Given the description of an element on the screen output the (x, y) to click on. 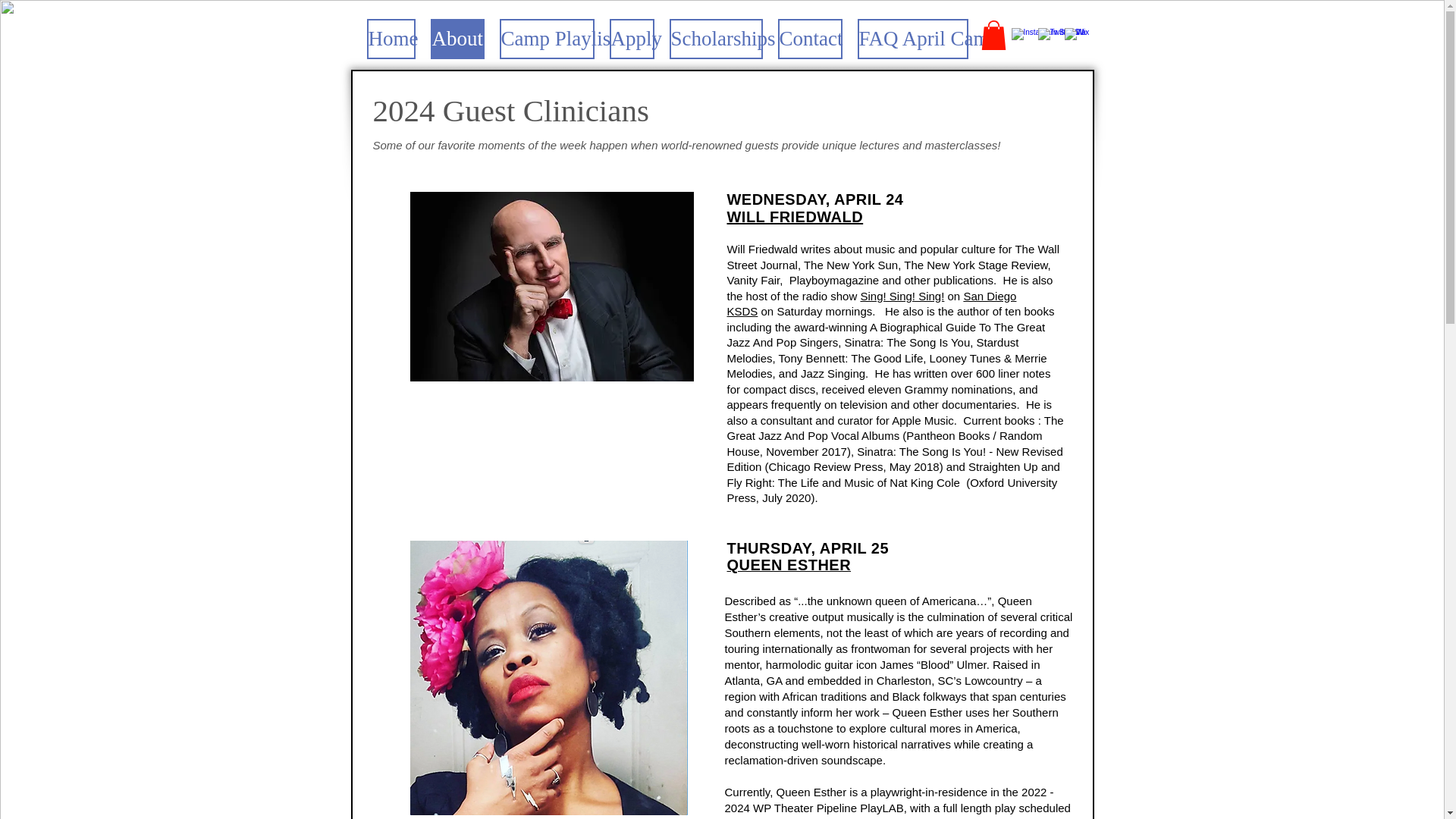
Apply (631, 38)
Scholarships (714, 38)
San Diego KSDS (871, 303)
Sing! Sing! Sing! (901, 295)
Home (390, 38)
FAQ April Camp (912, 38)
Contact (810, 38)
Camp Playlist (546, 38)
About (457, 38)
